Given the description of an element on the screen output the (x, y) to click on. 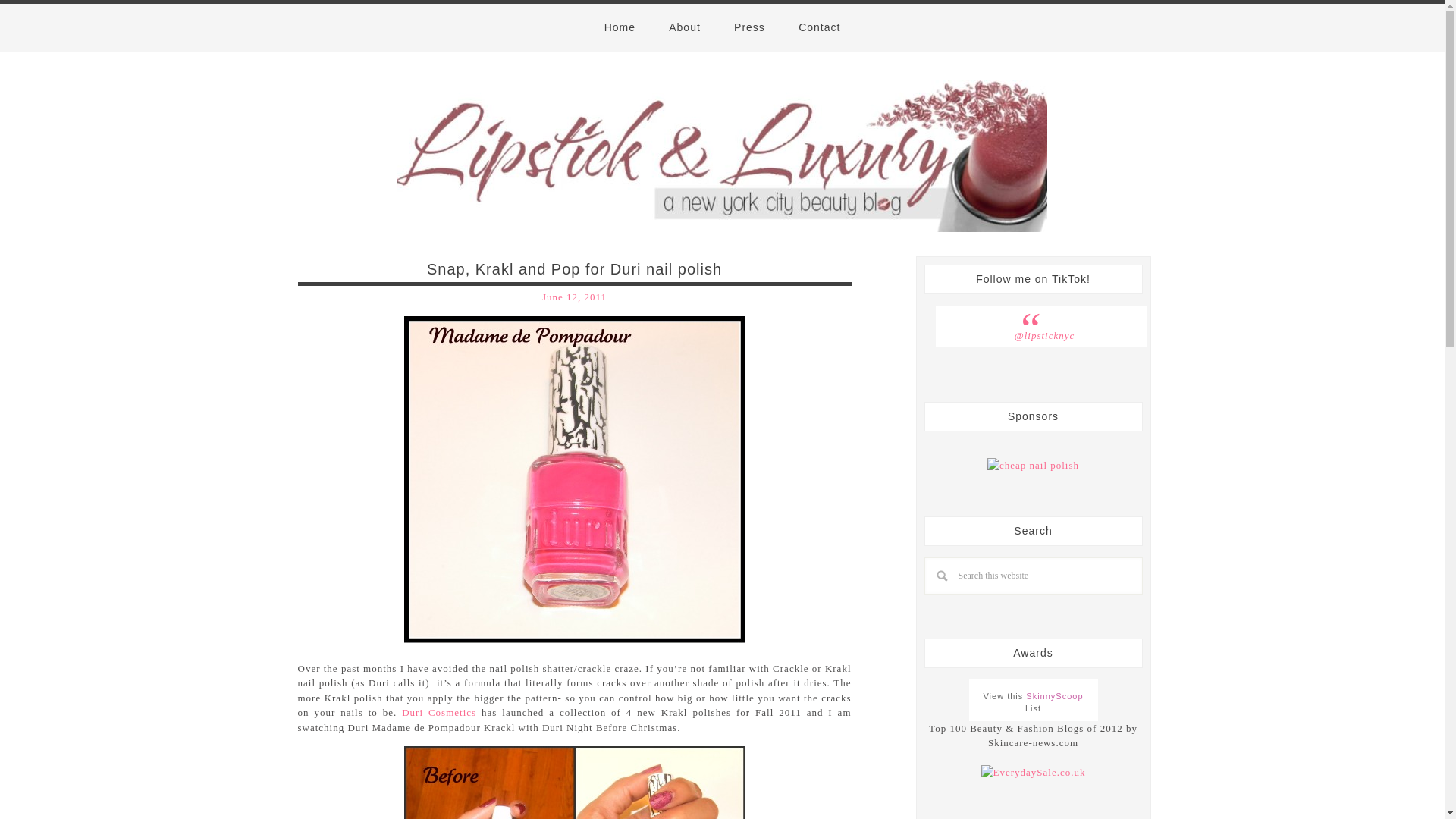
DHgate has nail art supplies for sale (1032, 465)
Duri Cosmetics (438, 712)
Home (619, 27)
About (684, 27)
Contact (819, 27)
Duri Cosmetics (438, 712)
View this SkinnyScoop List (1032, 702)
Snap, Krakl and Pop for Duri nail polish (574, 269)
Duri-Krakl-nail-polish-Madame-Pompadour (573, 478)
Duri-Krakl-Nail-polish-Swatch (573, 782)
Press (749, 27)
